Given the description of an element on the screen output the (x, y) to click on. 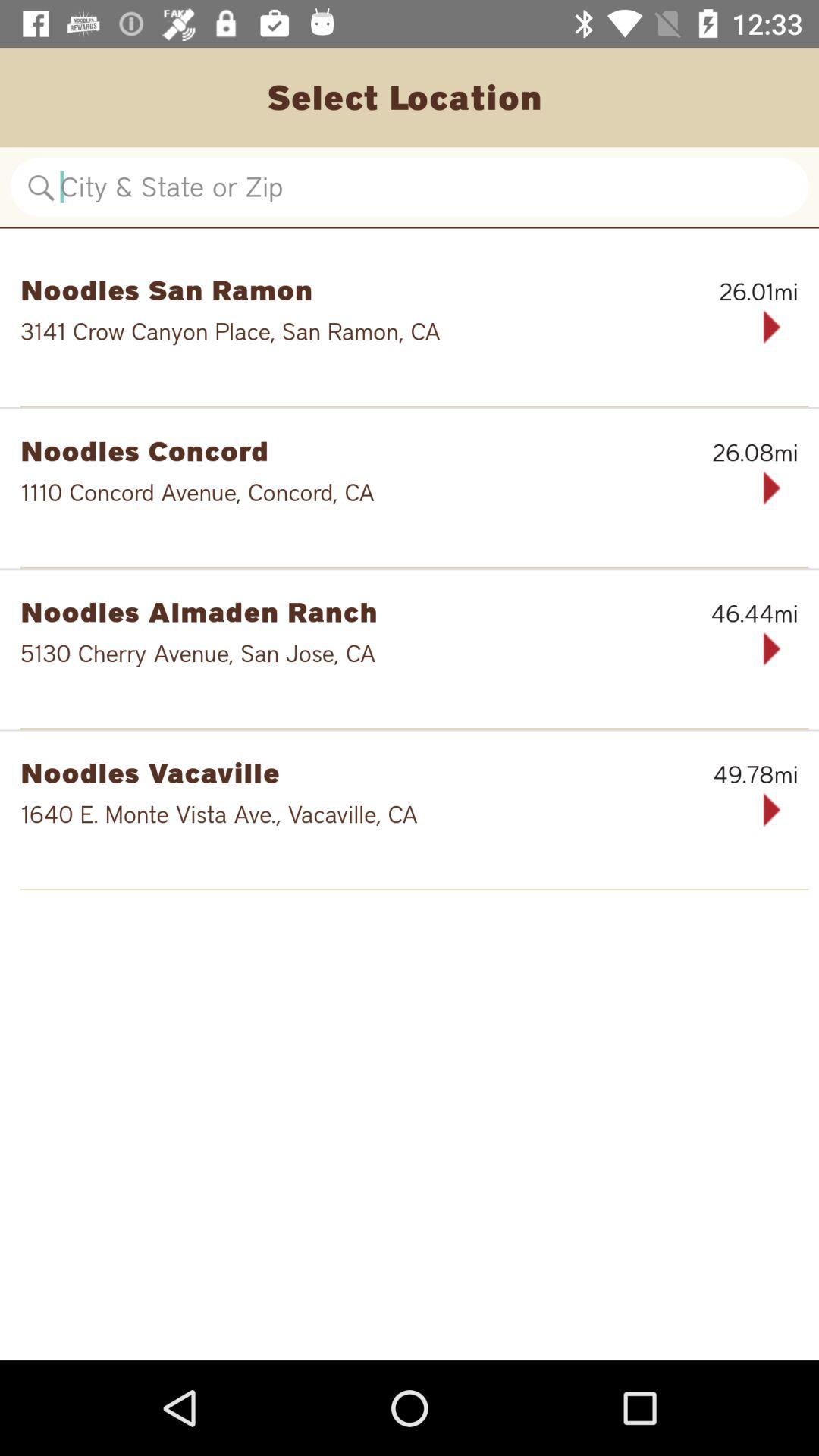
click item to the right of the noodles vacaville  icon (720, 774)
